Given the description of an element on the screen output the (x, y) to click on. 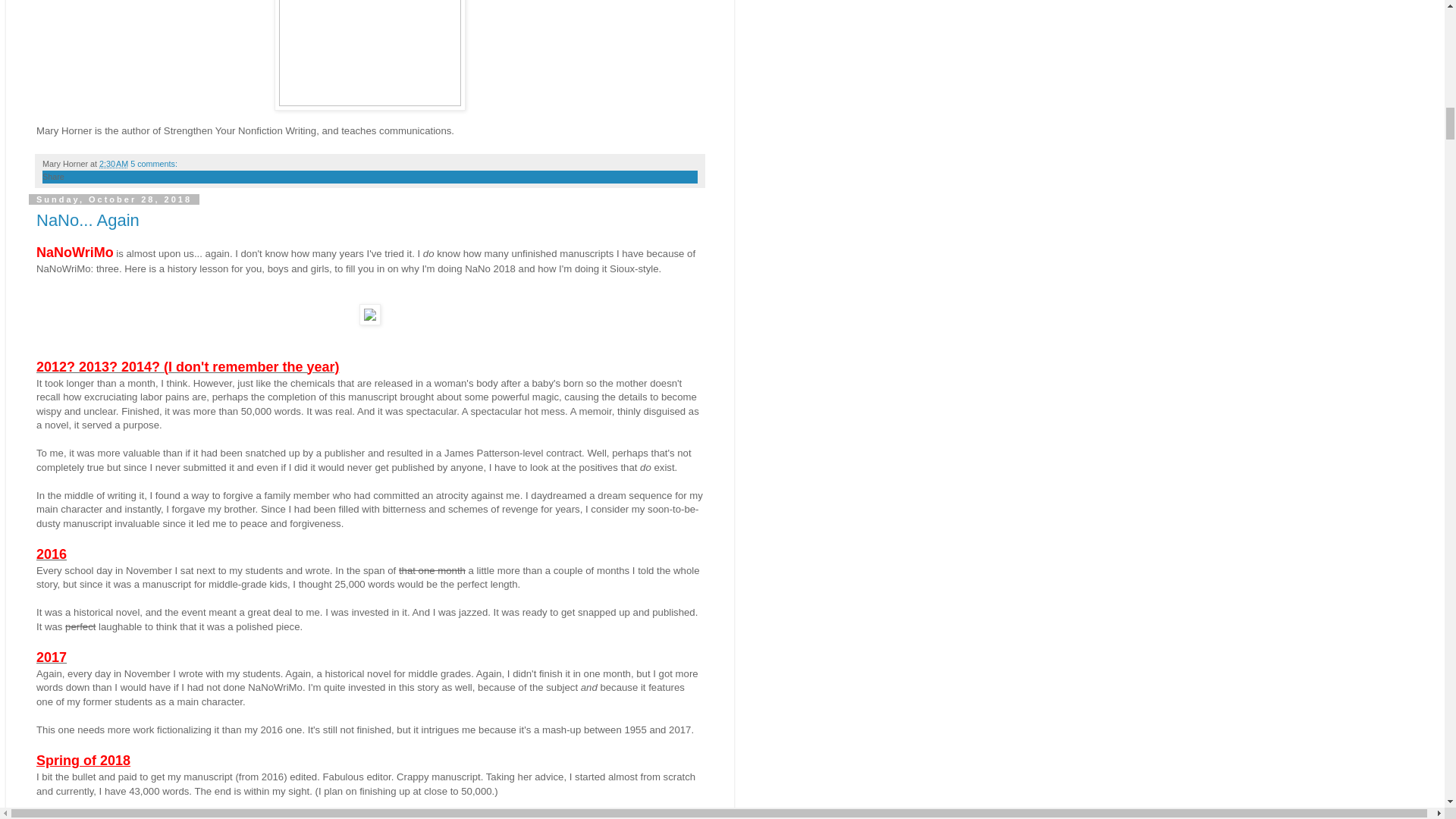
Share (53, 175)
NaNoWriMo (74, 253)
permanent link (113, 163)
NaNo... Again (87, 220)
5 comments: (154, 163)
